Given the description of an element on the screen output the (x, y) to click on. 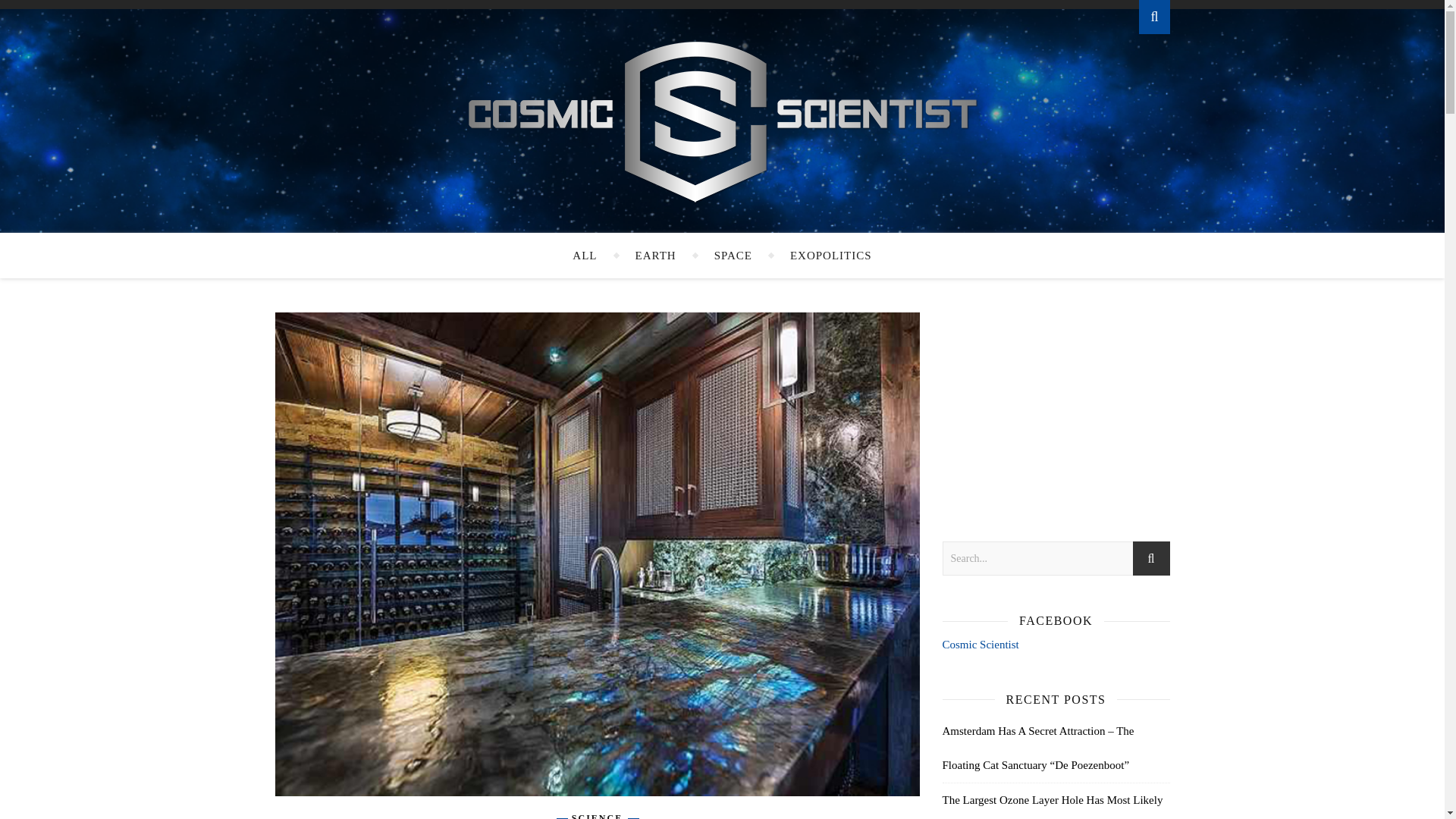
EXOPOLITICS (831, 255)
Cosmic Scientist (722, 121)
SCIENCE (597, 816)
EARTH (655, 255)
Advertisement (1055, 407)
